Given the description of an element on the screen output the (x, y) to click on. 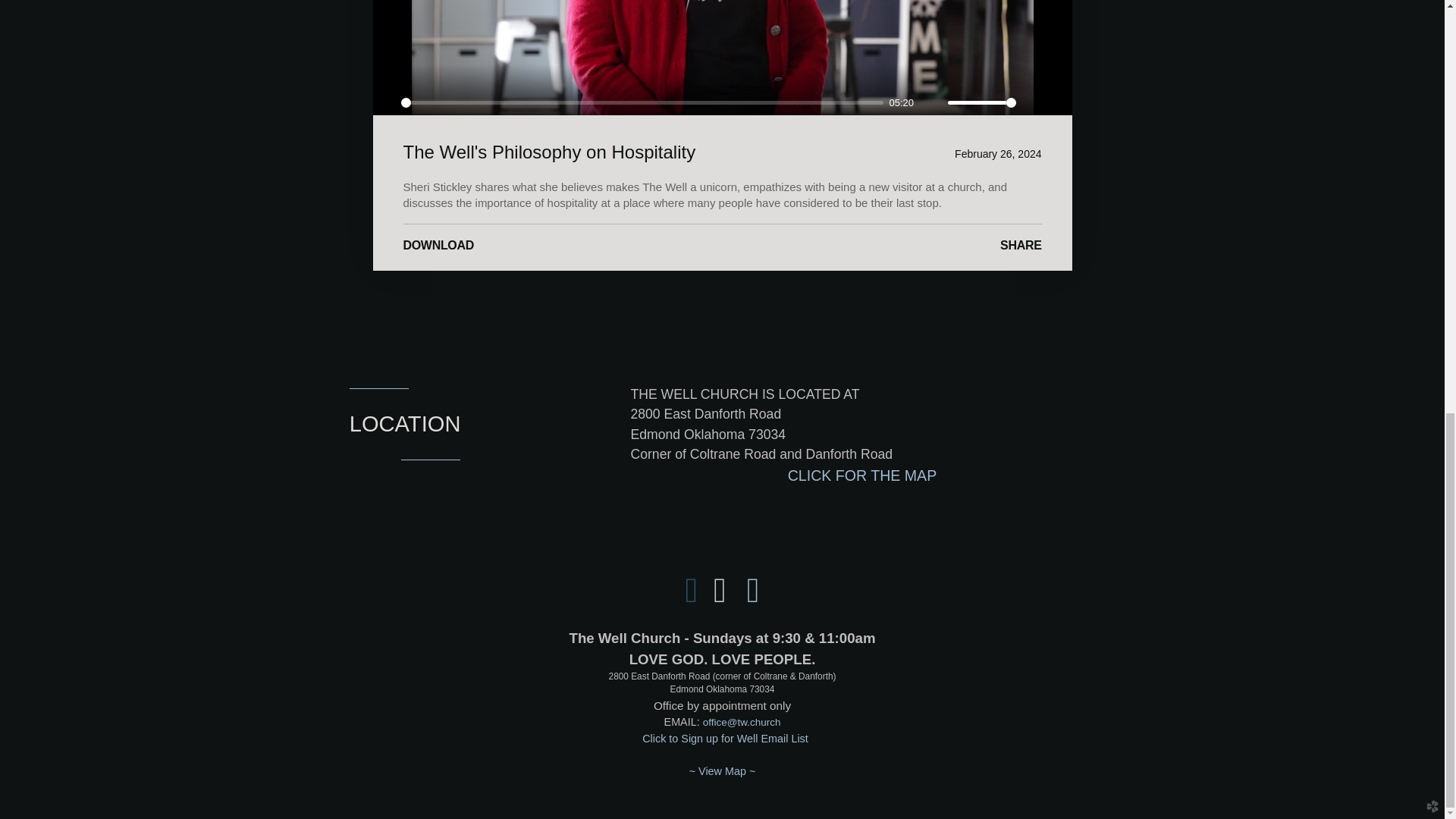
Play (384, 102)
0 (641, 102)
1 (981, 102)
